Given the description of an element on the screen output the (x, y) to click on. 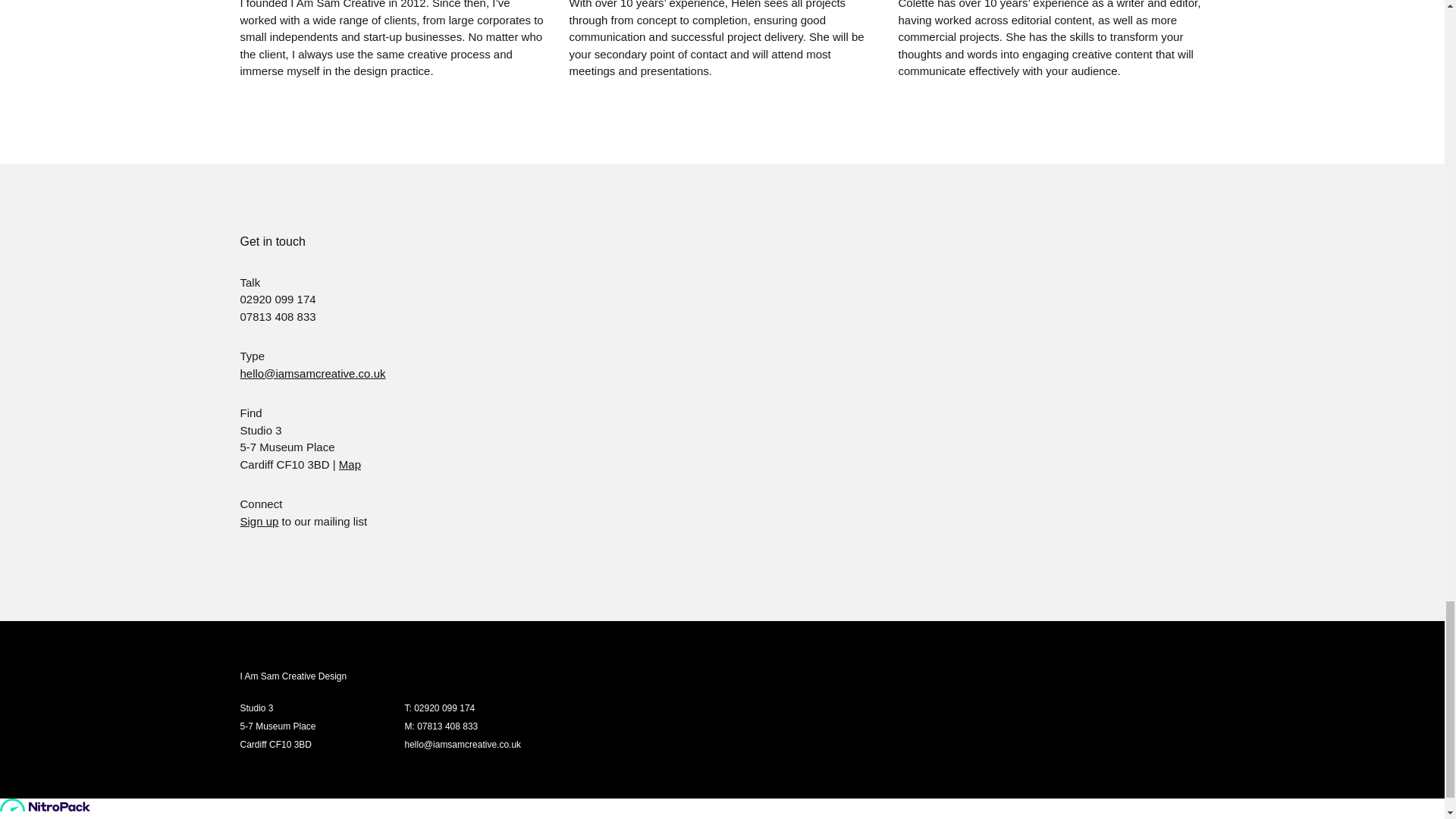
Sign up (259, 521)
Map (350, 463)
02920 099 174 (443, 707)
07813 408 833 (446, 726)
